Given the description of an element on the screen output the (x, y) to click on. 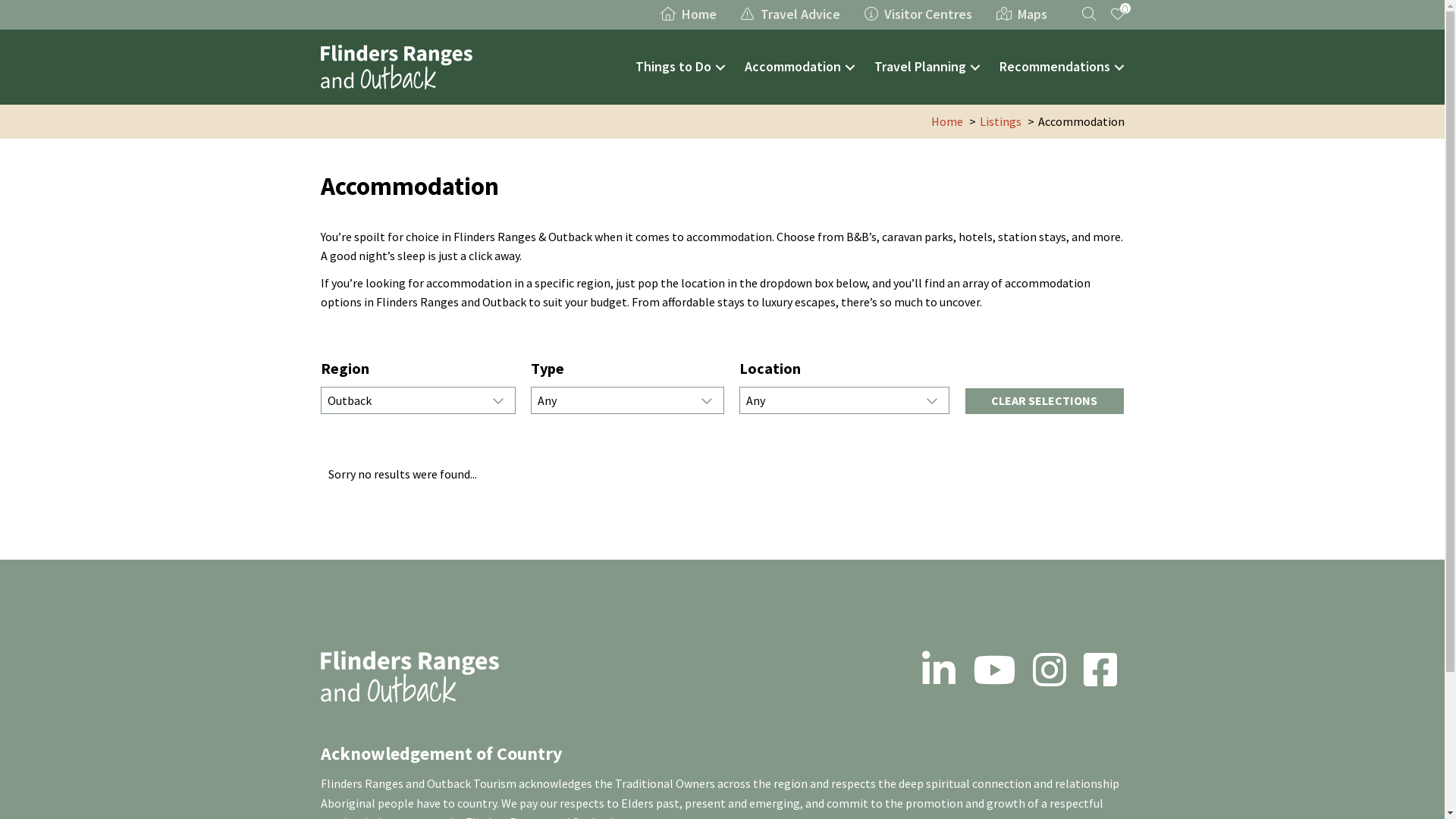
CLEAR SELECTIONS Element type: text (1044, 400)
Accommodation Element type: text (801, 66)
Recommendations Element type: text (1063, 66)
Listings Element type: text (1000, 120)
0 Element type: text (1112, 14)
Home Element type: text (947, 120)
Things to Do Element type: text (682, 66)
Visitor Centres Element type: text (918, 14)
Travel Advice Element type: text (789, 14)
Travel Planning Element type: text (928, 66)
FRO Web Logo Element type: hover (409, 676)
FRO Web Logo Element type: hover (395, 66)
Maps Element type: text (1021, 14)
Home Element type: text (687, 14)
